Given the description of an element on the screen output the (x, y) to click on. 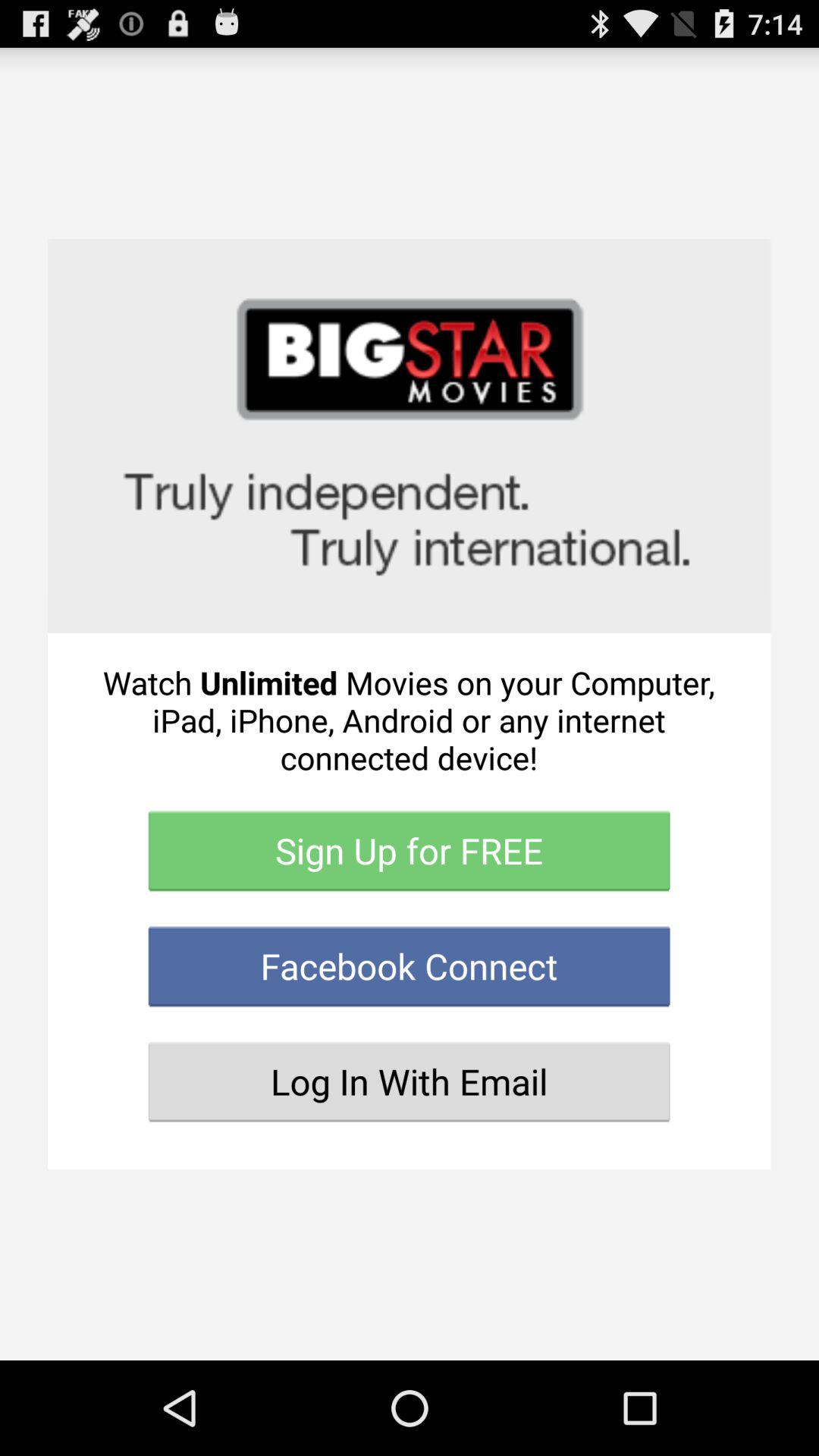
flip to sign up for icon (408, 850)
